Given the description of an element on the screen output the (x, y) to click on. 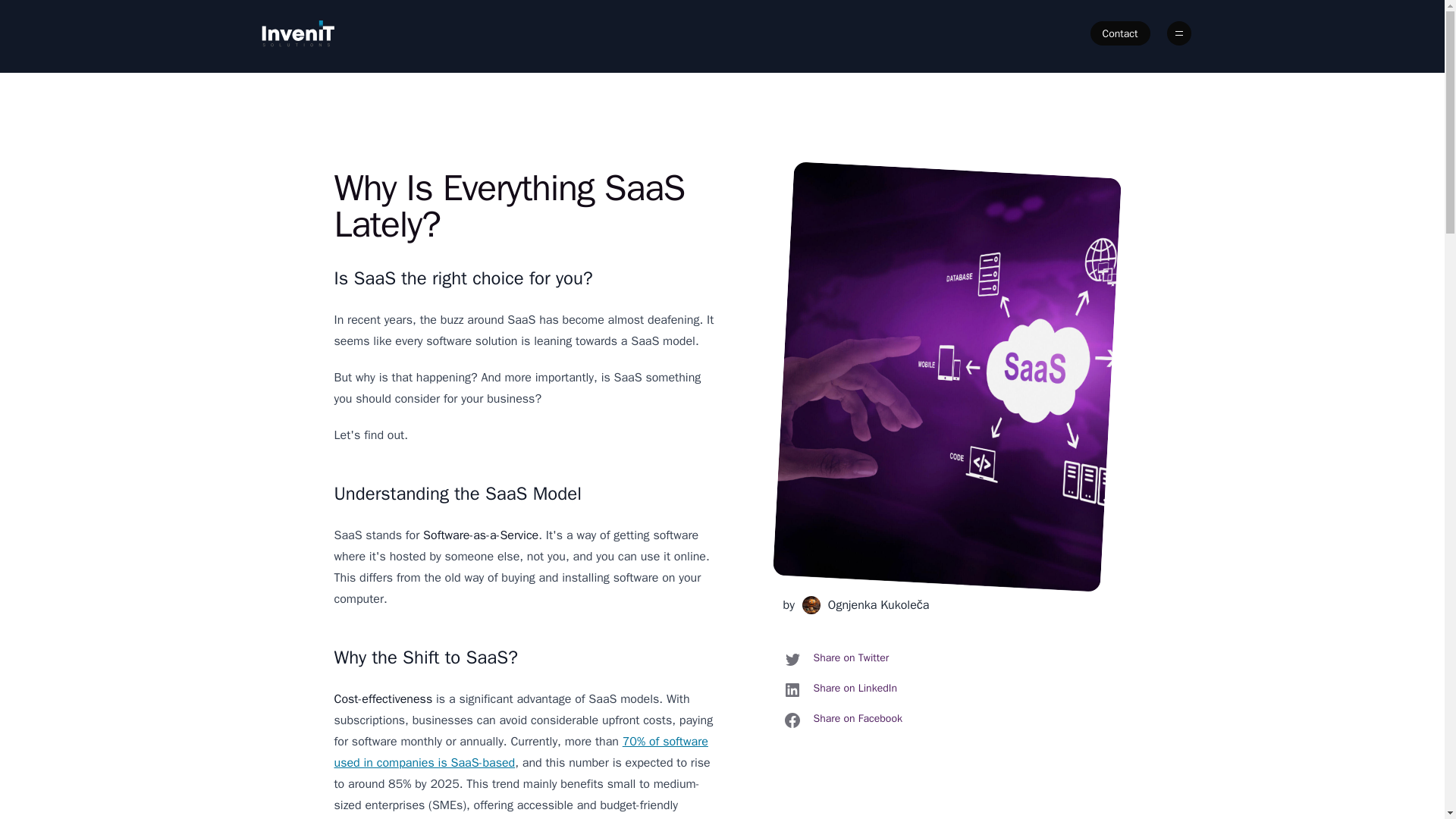
Contact (1120, 33)
Share on LinkedIn (839, 689)
Share on Twitter (835, 659)
Share on Facebook (842, 720)
